Given the description of an element on the screen output the (x, y) to click on. 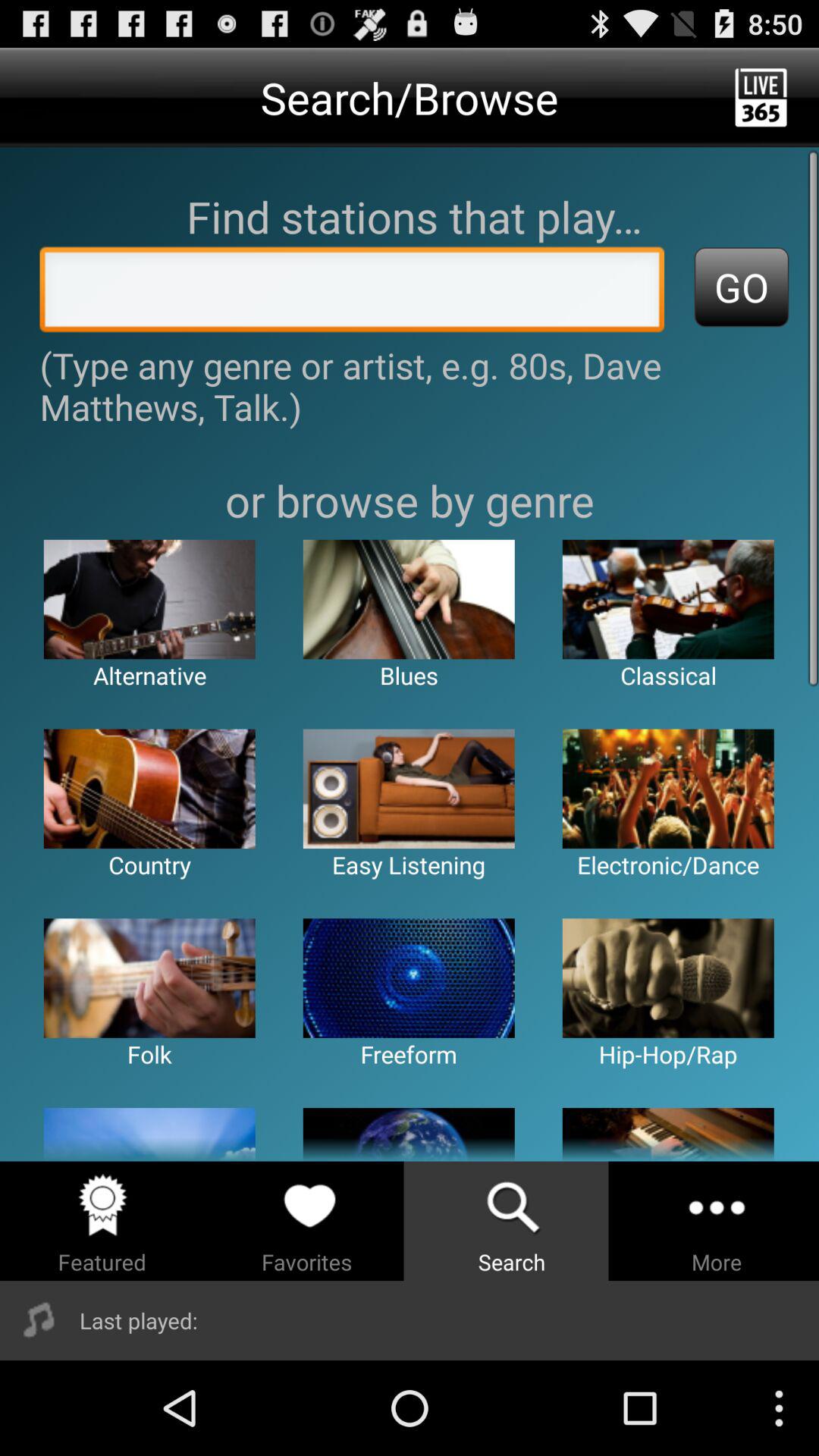
search area (351, 293)
